Given the description of an element on the screen output the (x, y) to click on. 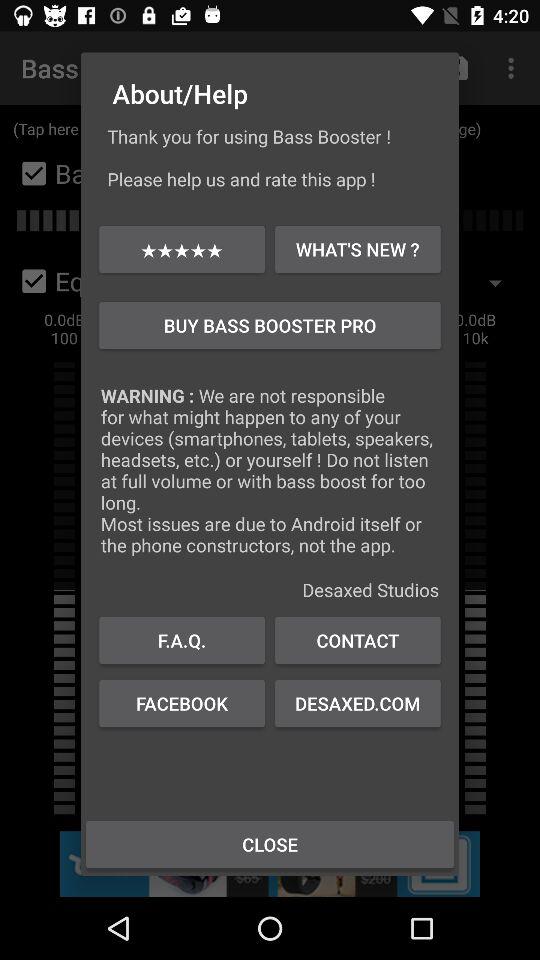
select icon below the facebook (270, 844)
